Given the description of an element on the screen output the (x, y) to click on. 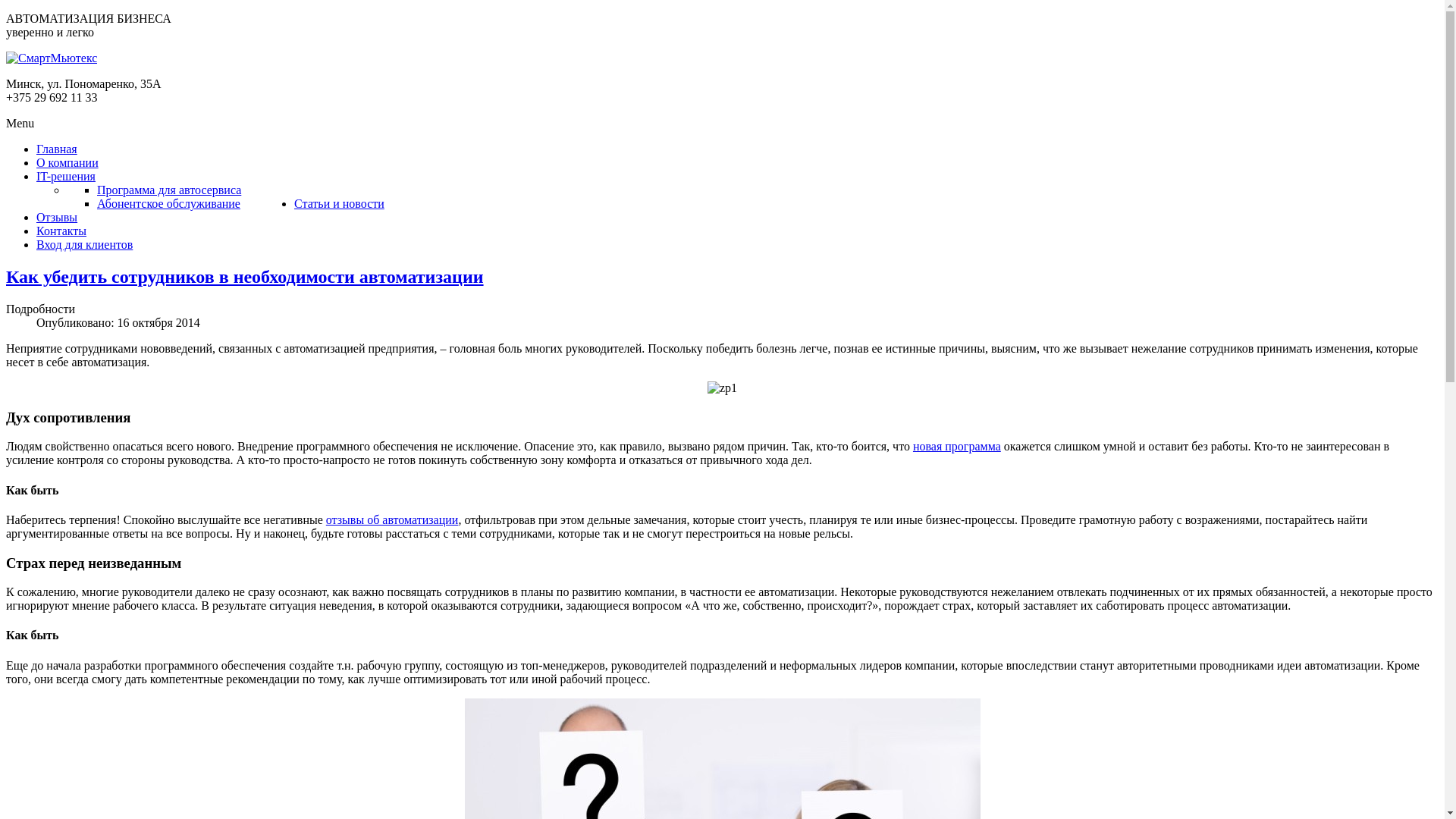
Menu Element type: text (20, 122)
